Given the description of an element on the screen output the (x, y) to click on. 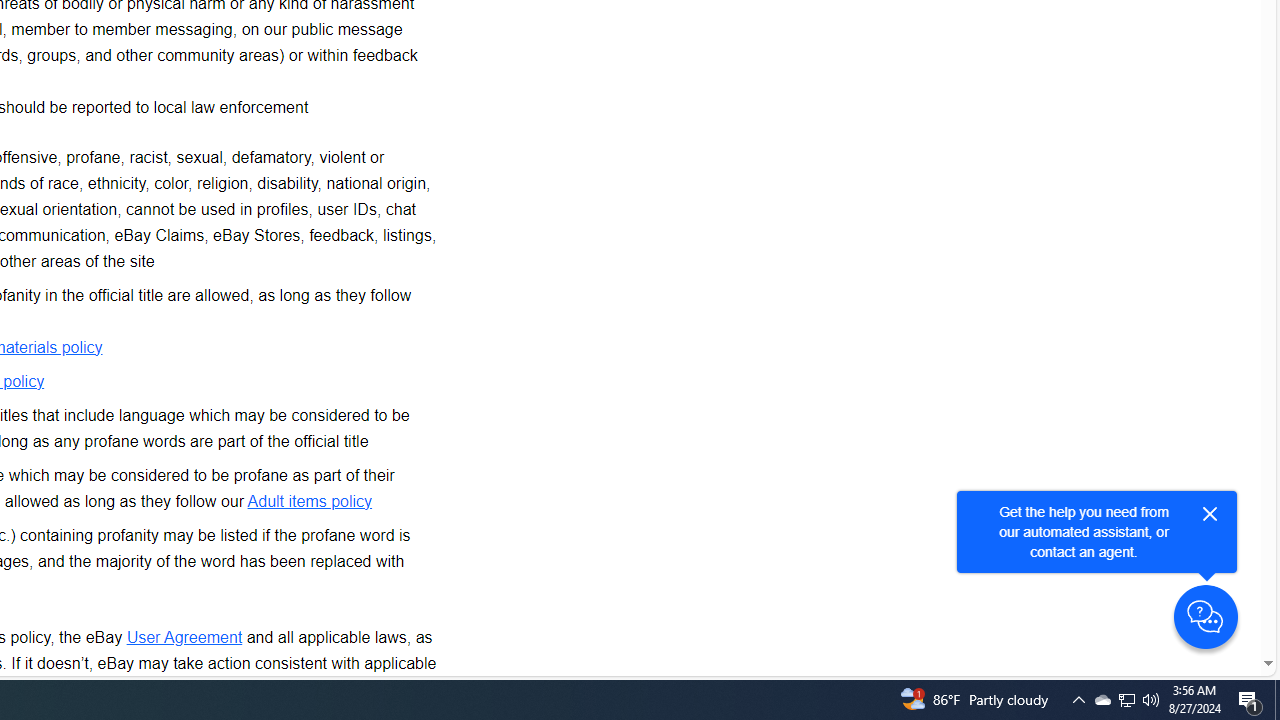
Close (1210, 513)
User Agreement (184, 636)
Adult items policy (309, 500)
